Given the description of an element on the screen output the (x, y) to click on. 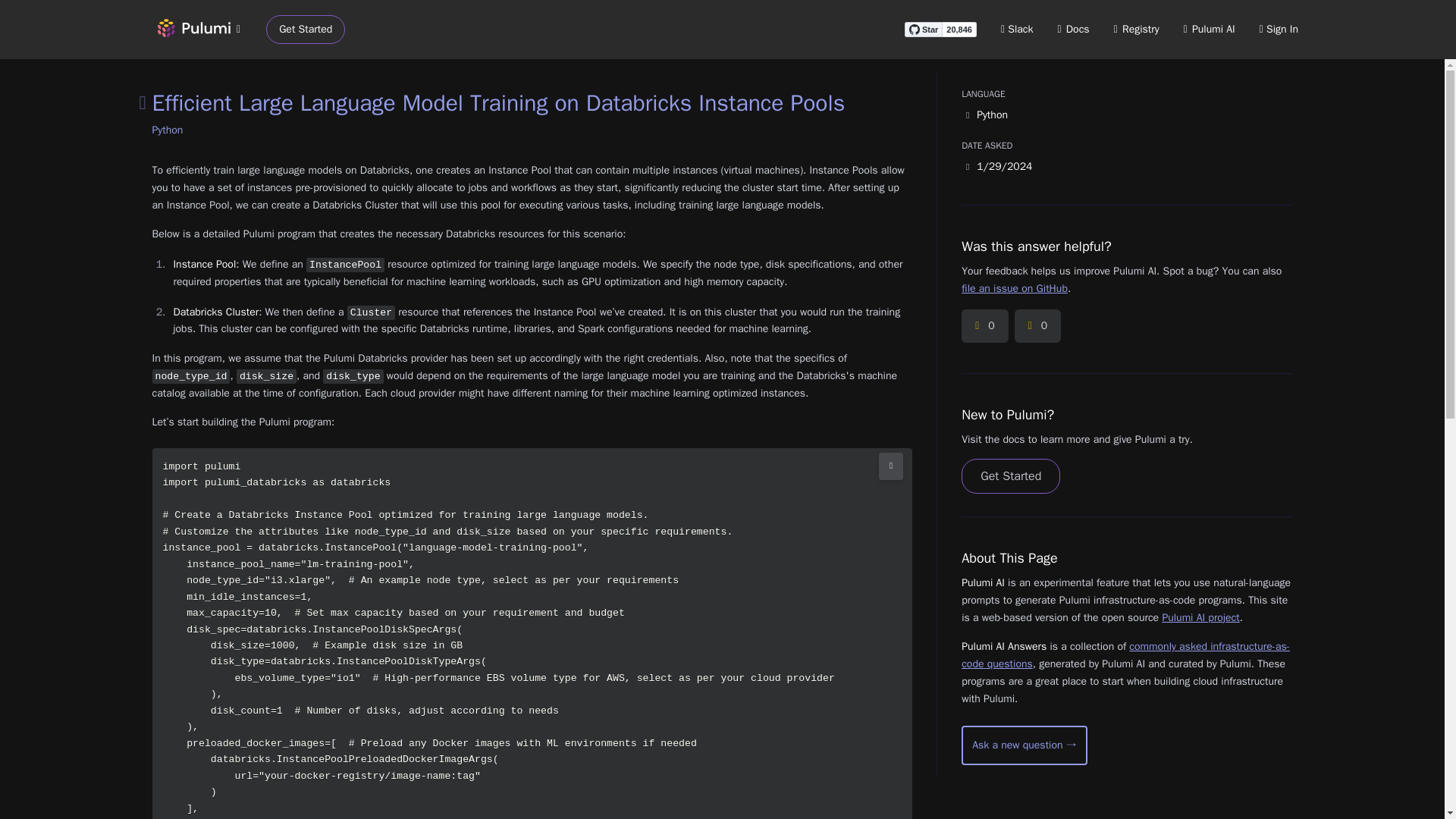
Get Started (305, 29)
Pulumi AI (1208, 29)
Slack (1017, 29)
Docs (1073, 29)
20,846 (959, 29)
0 (984, 326)
 Star (923, 29)
Upvote this answer (984, 326)
Sign In (1278, 29)
Start a new conversation with Pulumi AI (1023, 744)
